Given the description of an element on the screen output the (x, y) to click on. 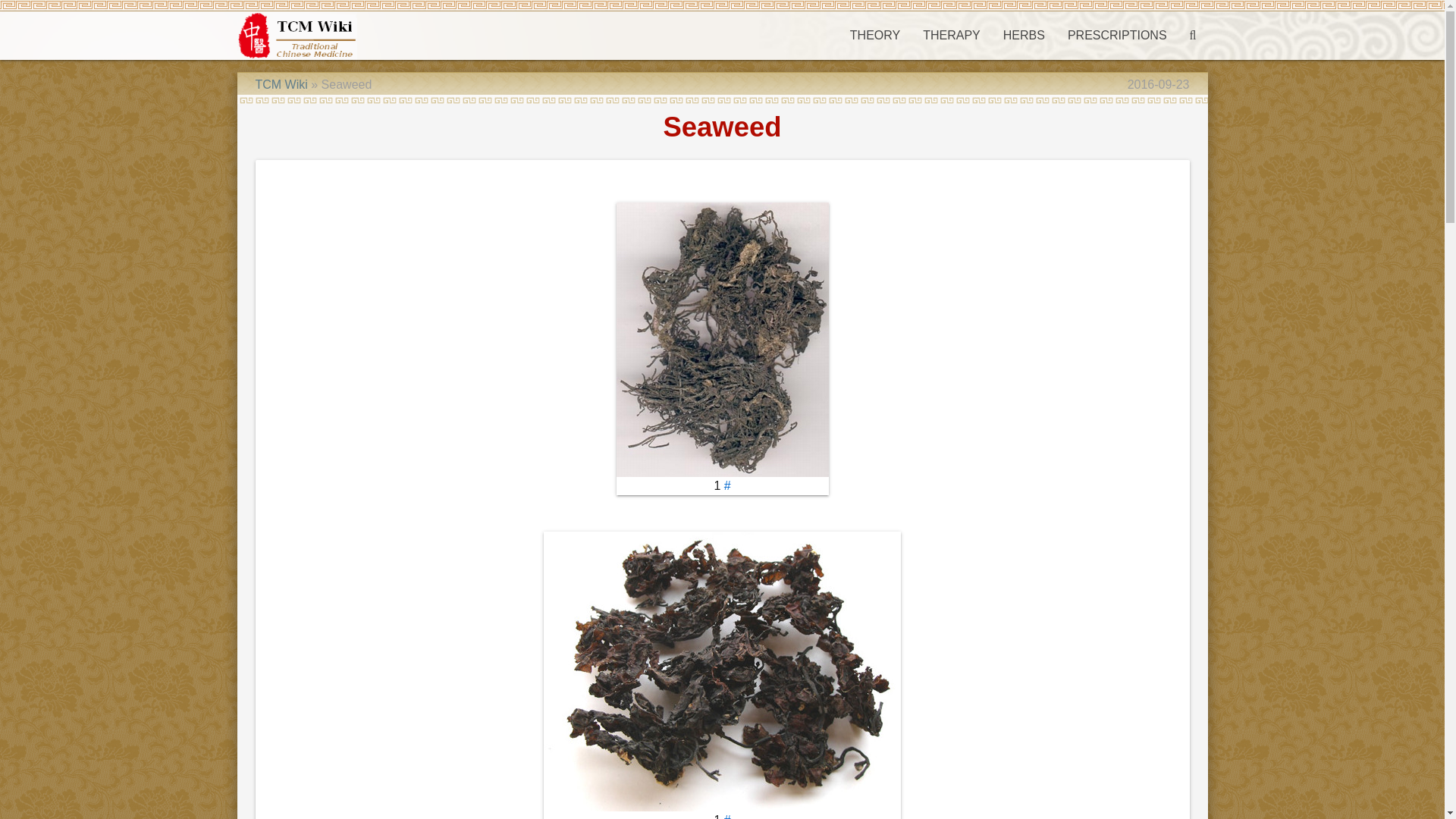
THEORY (874, 35)
PRESCRIPTIONS (1117, 35)
TCM Wiki (280, 83)
THERAPY (951, 35)
HERBS (1024, 35)
